Given the description of an element on the screen output the (x, y) to click on. 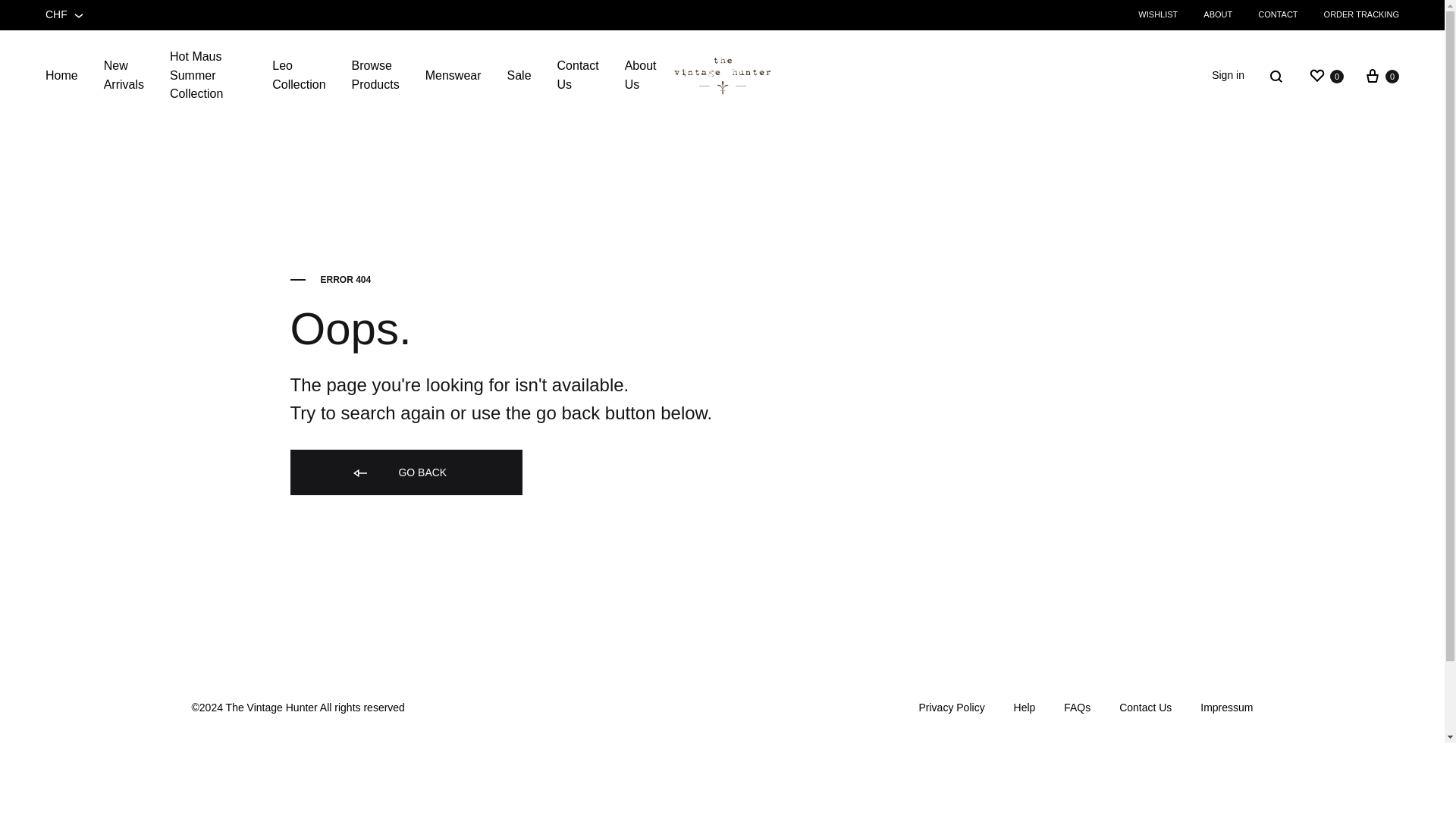
Leo Collection (298, 75)
Menswear (453, 75)
Sale (518, 75)
New Arrivals (123, 75)
Browse Products (375, 75)
WISHLIST (1157, 14)
ORDER TRACKING (1361, 14)
Sign in (1227, 75)
Contact Us (577, 75)
